Given the description of an element on the screen output the (x, y) to click on. 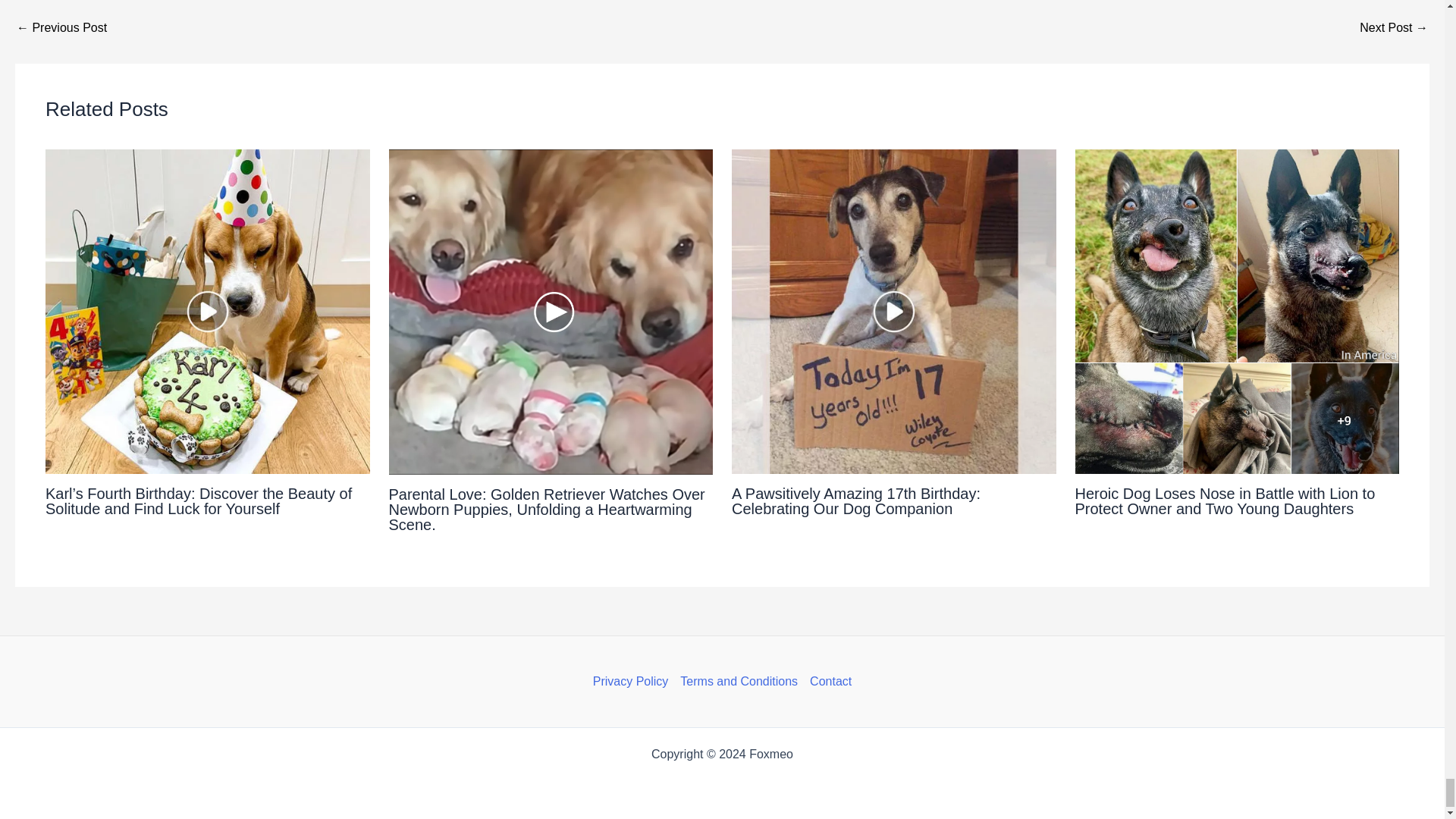
Privacy Policy (633, 681)
Contact (827, 681)
Terms and Conditions (738, 681)
